Given the description of an element on the screen output the (x, y) to click on. 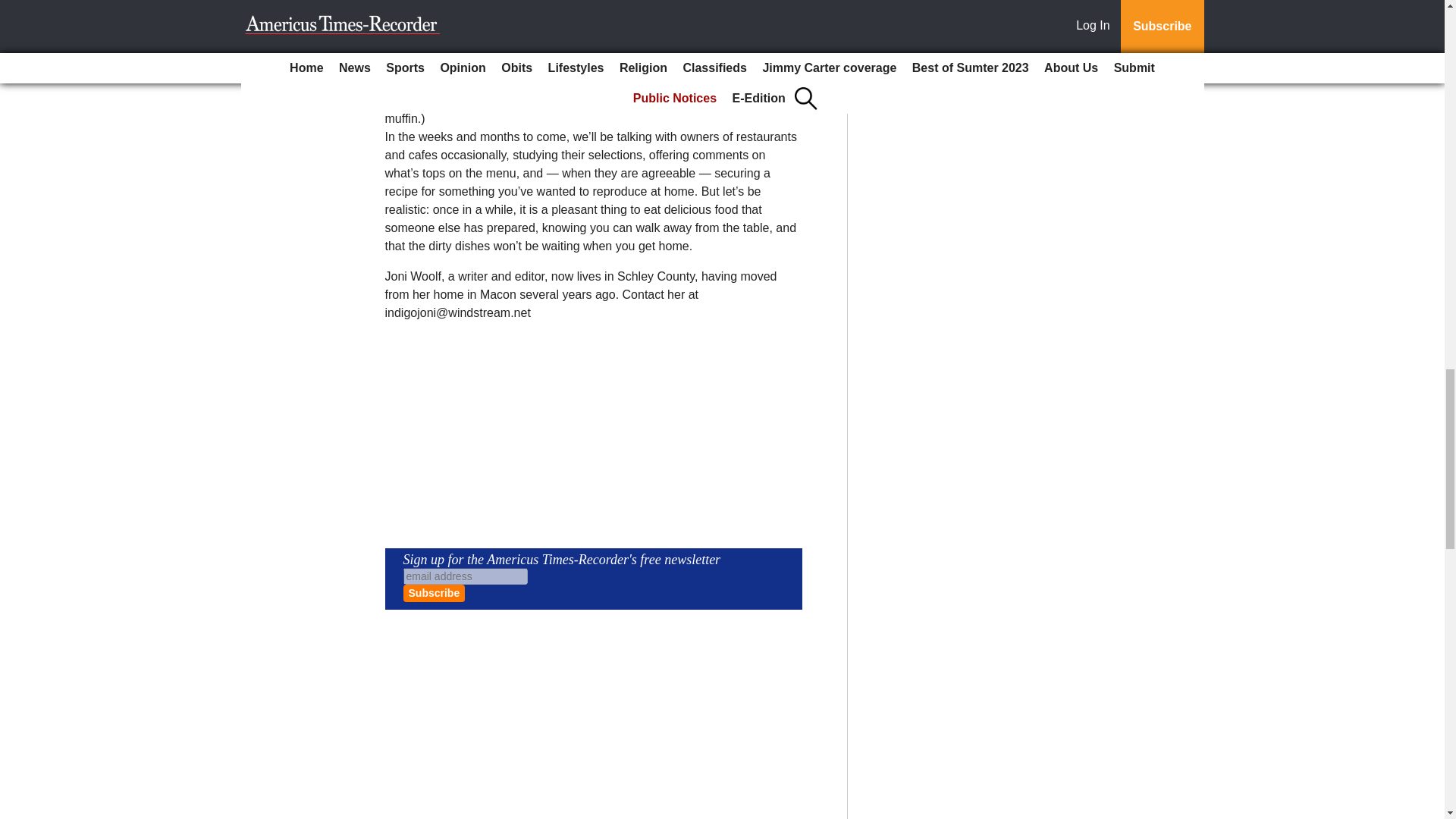
Subscribe (434, 592)
Subscribe (434, 592)
